Given the description of an element on the screen output the (x, y) to click on. 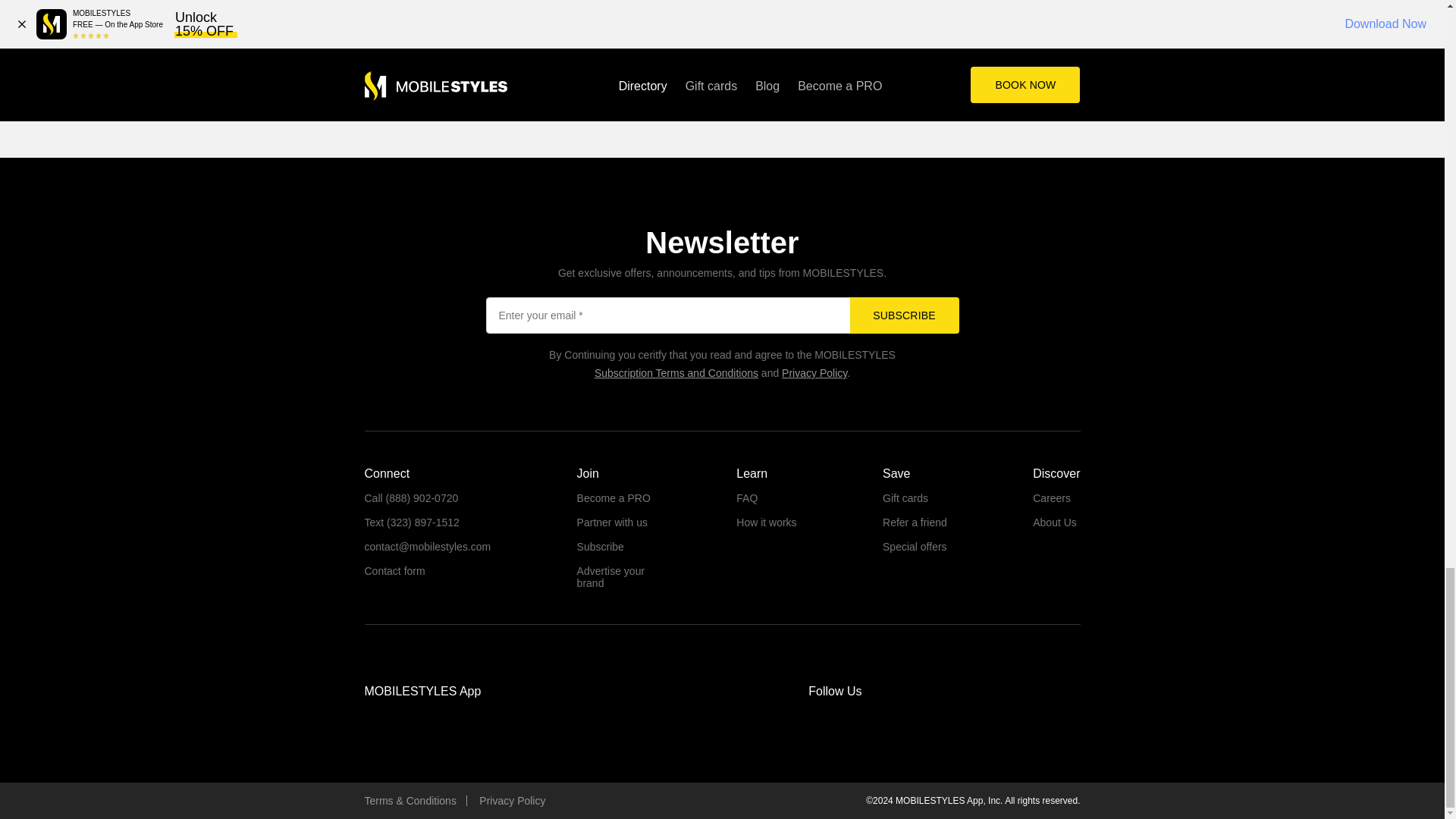
Partner with us (611, 522)
Subscribe (903, 315)
Privacy Policy (814, 372)
Become a PRO (613, 498)
Subscription Terms and Conditions (676, 372)
Contact form (394, 571)
Subscribe (903, 315)
